Given the description of an element on the screen output the (x, y) to click on. 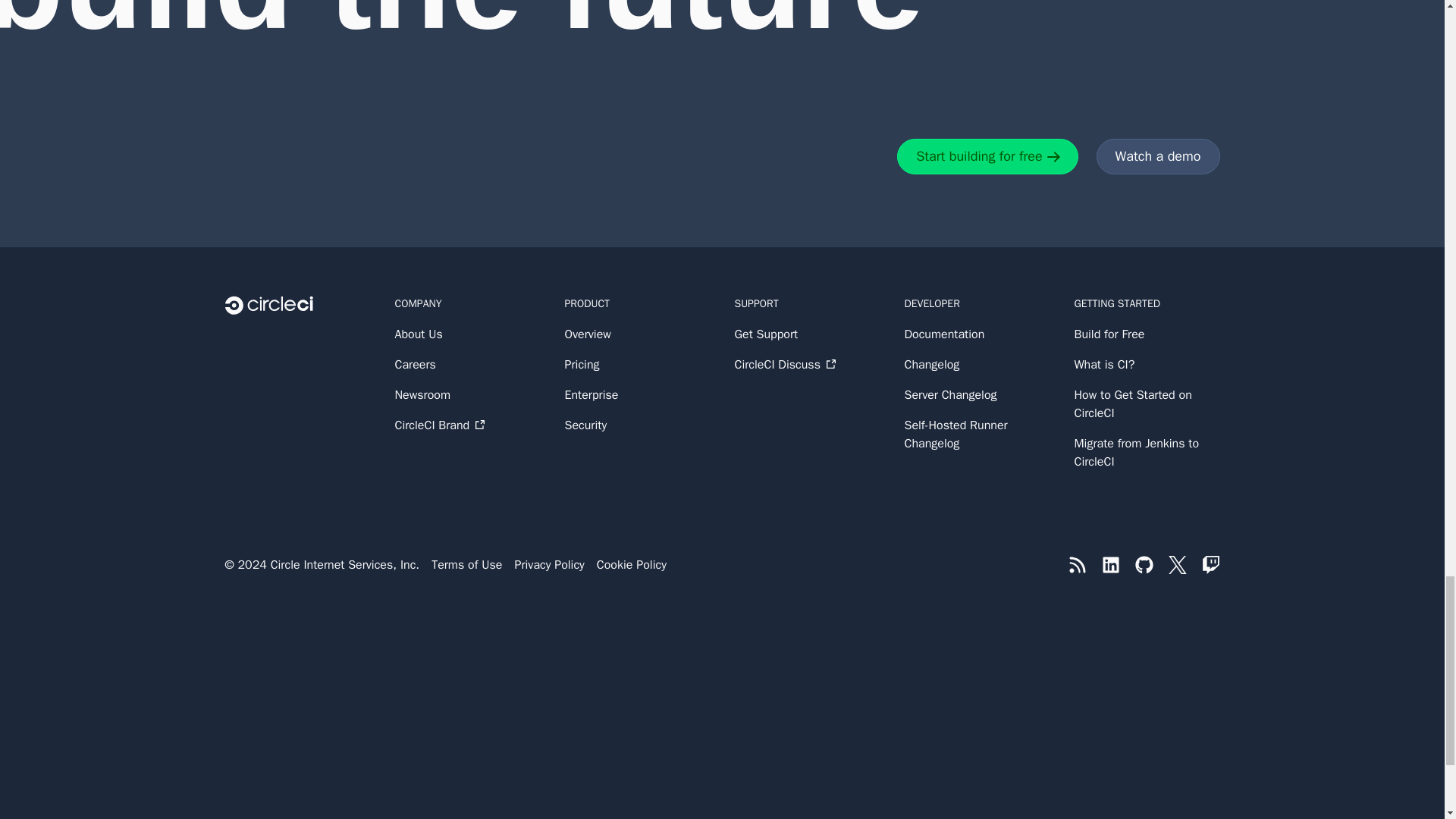
Documentation (976, 334)
Pricing (637, 364)
RSS (1076, 565)
CircleCI (296, 304)
Changelog (976, 364)
GitHub (1143, 565)
LinkedIn (1109, 565)
How to Get Started on CircleCI (1147, 403)
Cookie Policy (631, 565)
X (1176, 565)
